Given the description of an element on the screen output the (x, y) to click on. 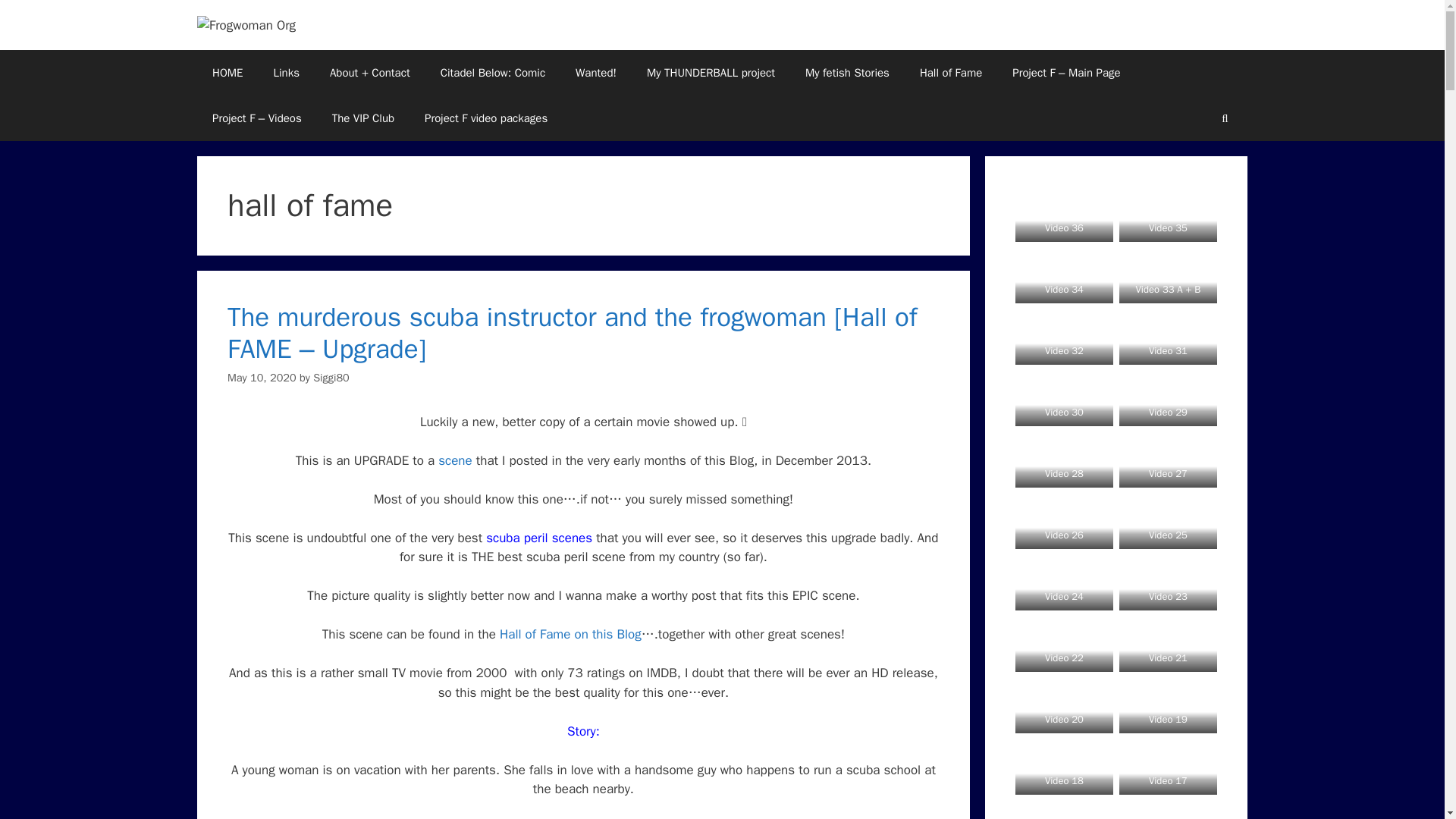
HOME (226, 72)
Links (285, 72)
Hall of Fame (950, 72)
Siggi80 (331, 377)
View all posts by Siggi80 (331, 377)
My THUNDERBALL project (710, 72)
Citadel Below: Comic (492, 72)
My fetish Stories (847, 72)
Hall of Fame on this Blog (570, 634)
Project F video packages (485, 117)
The VIP Club (363, 117)
Wanted! (595, 72)
scene (454, 460)
